Given the description of an element on the screen output the (x, y) to click on. 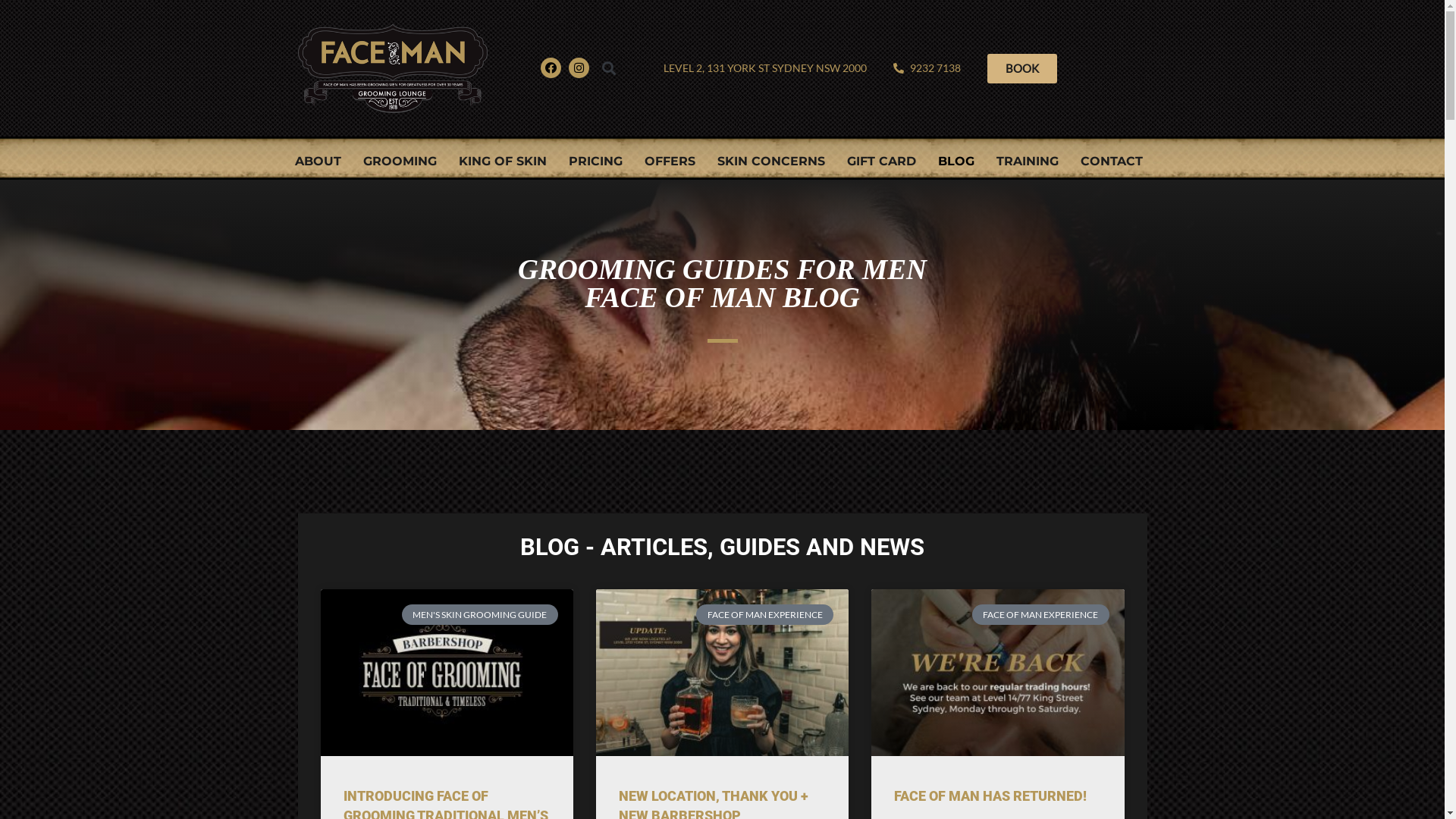
FACE OF MAN HAS RETURNED! Element type: text (990, 795)
GIFT CARD Element type: text (880, 161)
GROOMING Element type: text (398, 161)
CONTACT Element type: text (1110, 161)
ABOUT Element type: text (317, 161)
BOOK Element type: text (1022, 67)
Skip to content Element type: text (11, 31)
PRICING Element type: text (595, 161)
9232 7138 Element type: text (927, 68)
LEVEL 2, 131 YORK ST SYDNEY NSW 2000 Element type: text (764, 68)
OFFERS Element type: text (669, 161)
BLOG Element type: text (955, 161)
KING OF SKIN Element type: text (501, 161)
BLOG - ARTICLES, GUIDES AND NEWS Element type: text (722, 546)
SKIN CONCERNS Element type: text (770, 161)
TRAINING Element type: text (1027, 161)
